Given the description of an element on the screen output the (x, y) to click on. 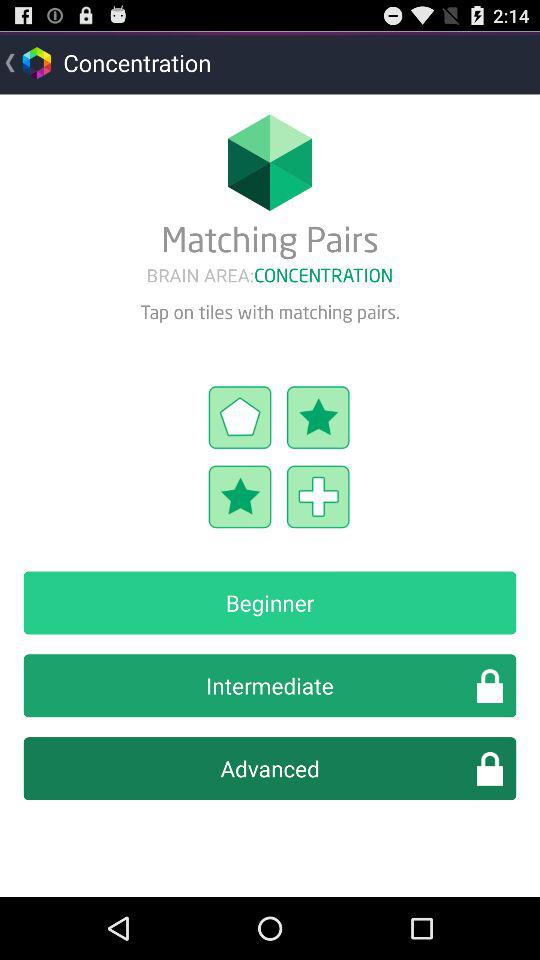
swipe until the intermediate item (269, 685)
